Given the description of an element on the screen output the (x, y) to click on. 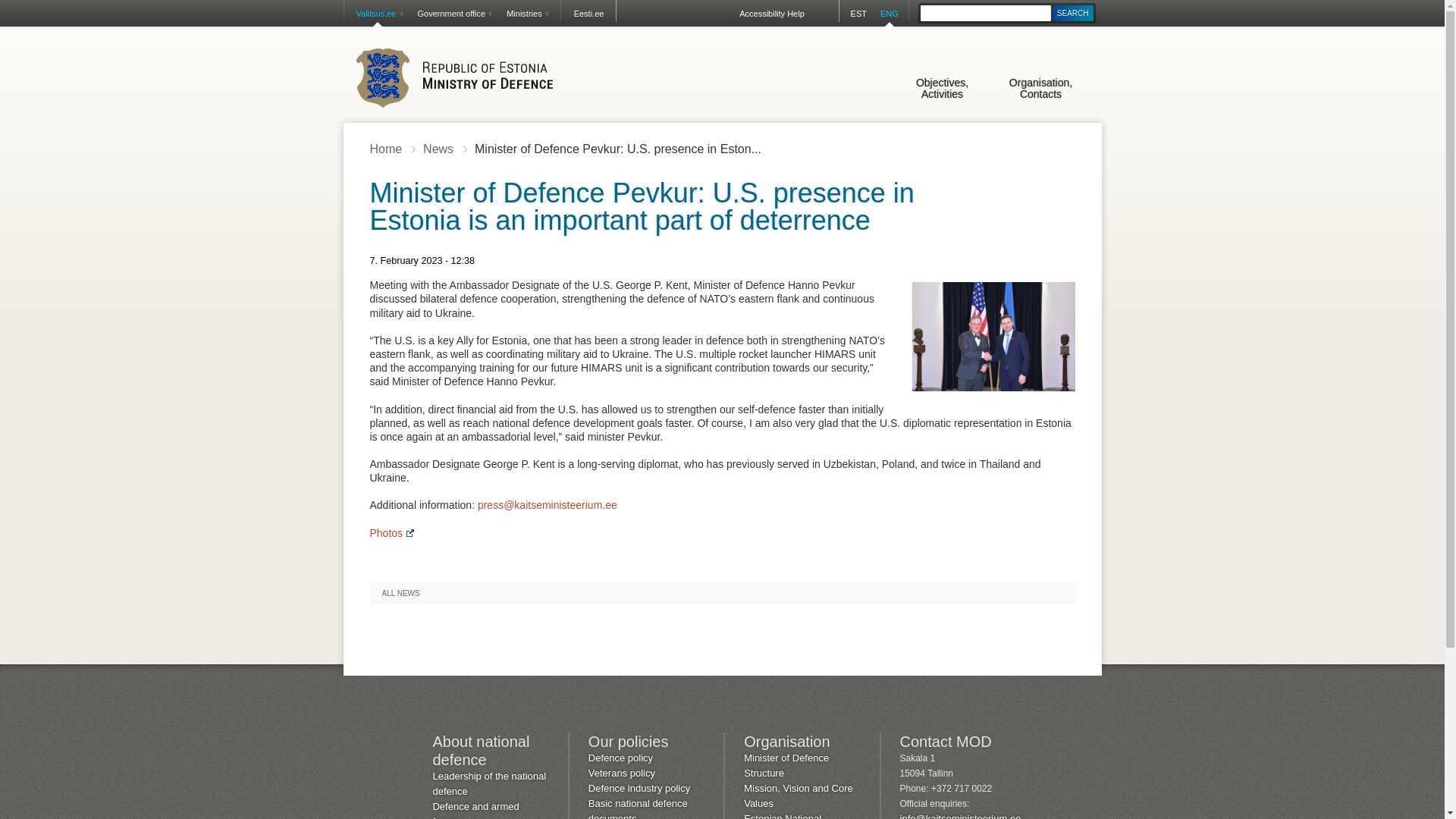
Accessibility Help (34, 0)
Ministries (525, 13)
ENG (889, 13)
Search (1072, 12)
Eesti.ee (590, 13)
Enter the terms you wish to search for. (985, 12)
Valitsus.ee (377, 13)
Objectives, Activities (941, 93)
Return to the Kaitseministeerium home page (454, 77)
Government office (451, 13)
